Given the description of an element on the screen output the (x, y) to click on. 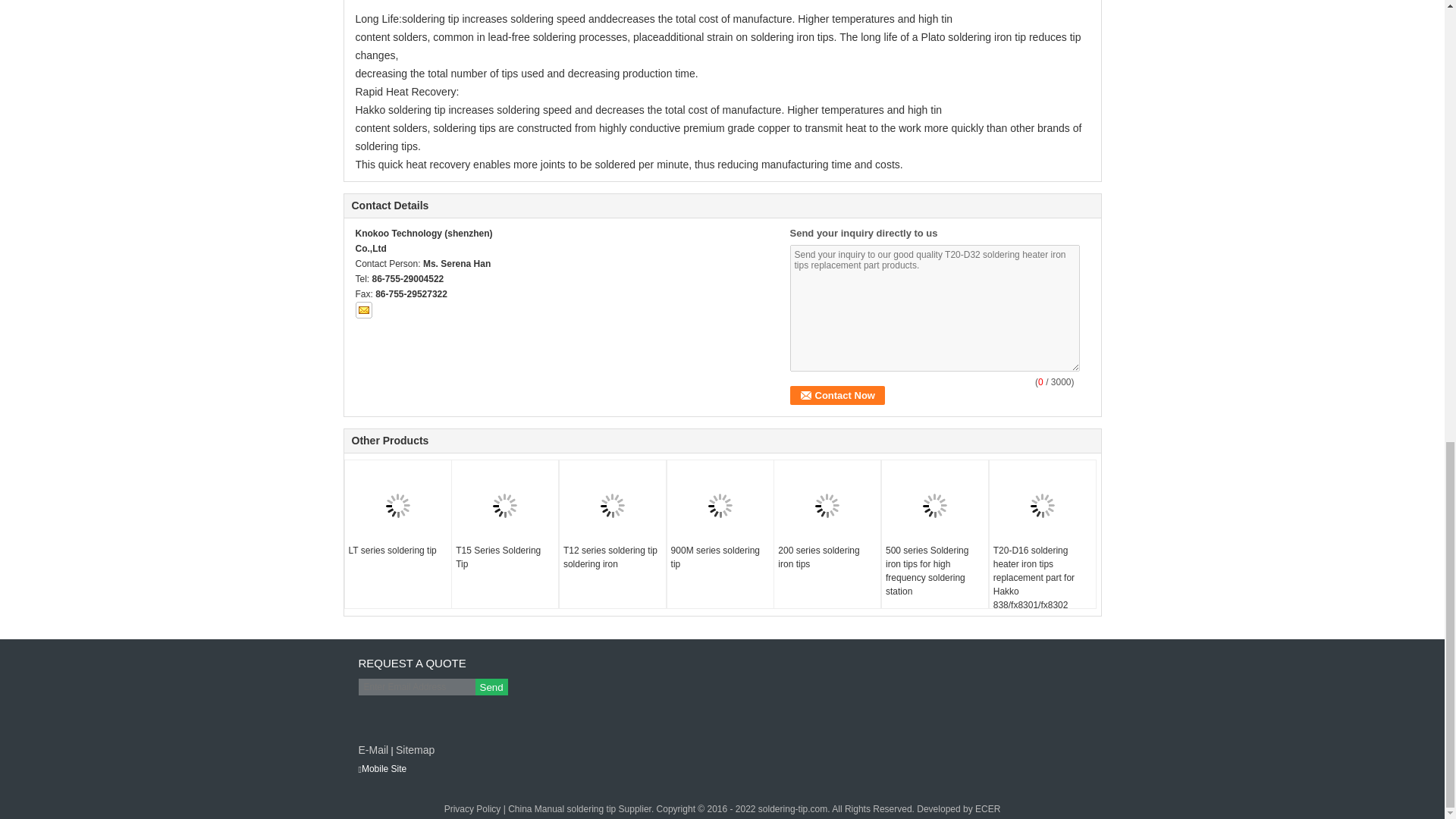
Contact Now (837, 394)
Sitemap (414, 749)
E-Mail (373, 749)
LT series soldering tip (396, 505)
200 series soldering iron tips (827, 556)
Contact Now (837, 394)
LT series soldering tip (396, 550)
Send (490, 686)
T12 series soldering tip soldering iron (612, 556)
T15 Series Soldering Tip (504, 505)
T15 Series Soldering Tip (504, 556)
900M series soldering tip (719, 556)
LT series soldering tip (396, 550)
